Given the description of an element on the screen output the (x, y) to click on. 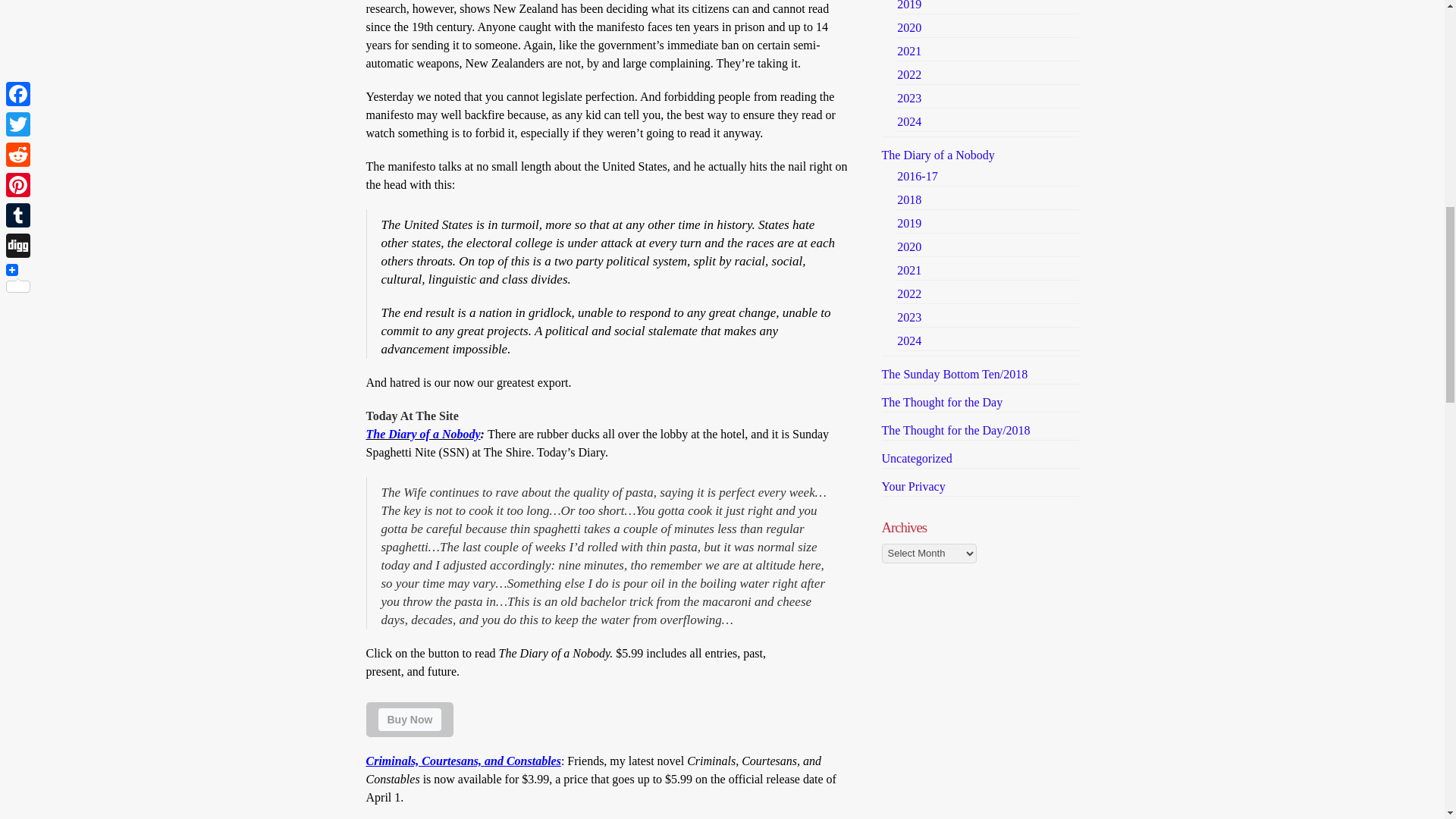
Buy Now (408, 719)
The Diary of a Nobody (422, 433)
Criminals, Courtesans, and Constables (462, 760)
